Given the description of an element on the screen output the (x, y) to click on. 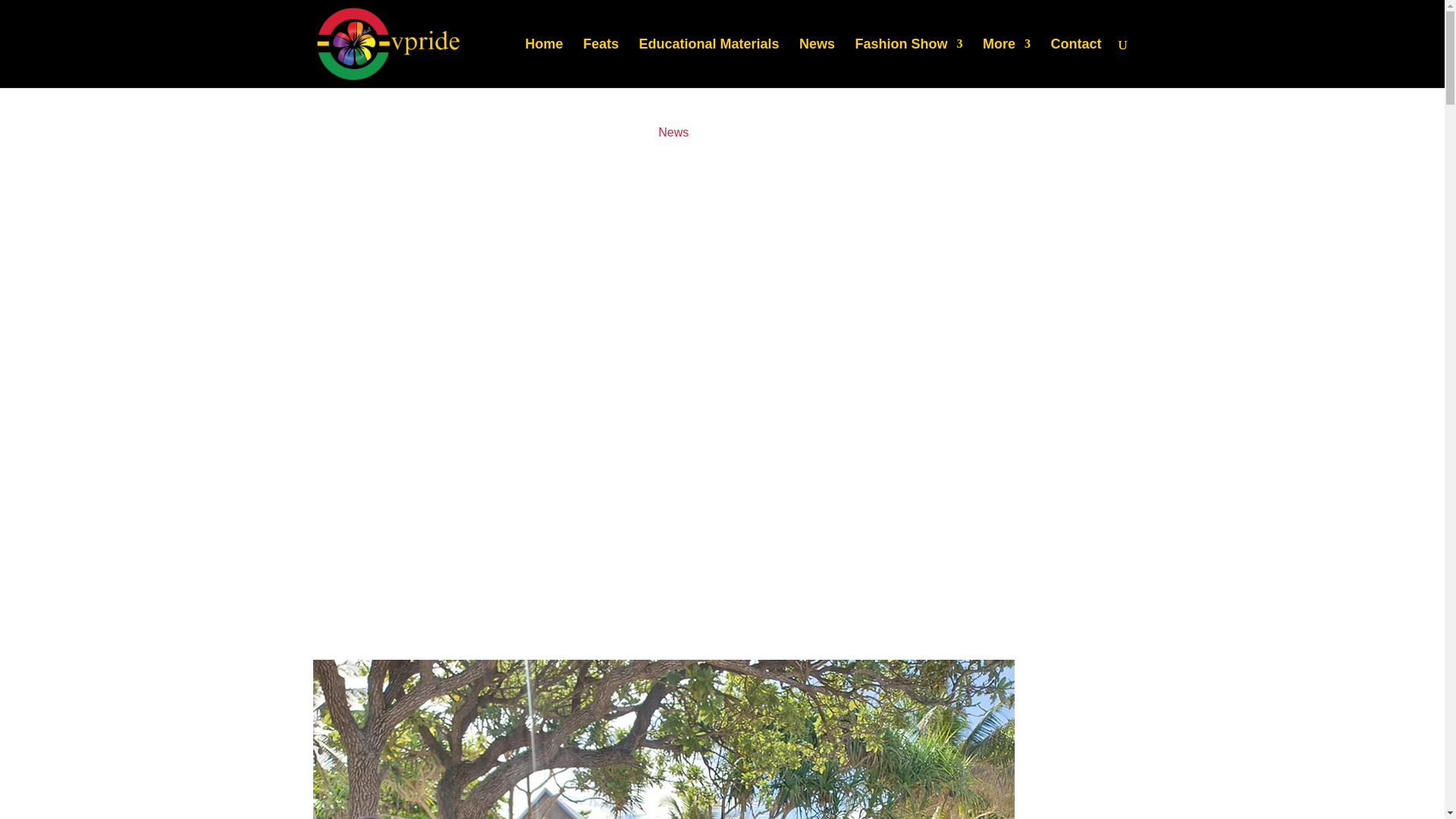
Feats (600, 62)
News (816, 62)
Contact (1076, 62)
Home (544, 62)
More (1006, 62)
Educational Materials (708, 62)
Fashion Show (909, 62)
News (673, 132)
